Given the description of an element on the screen output the (x, y) to click on. 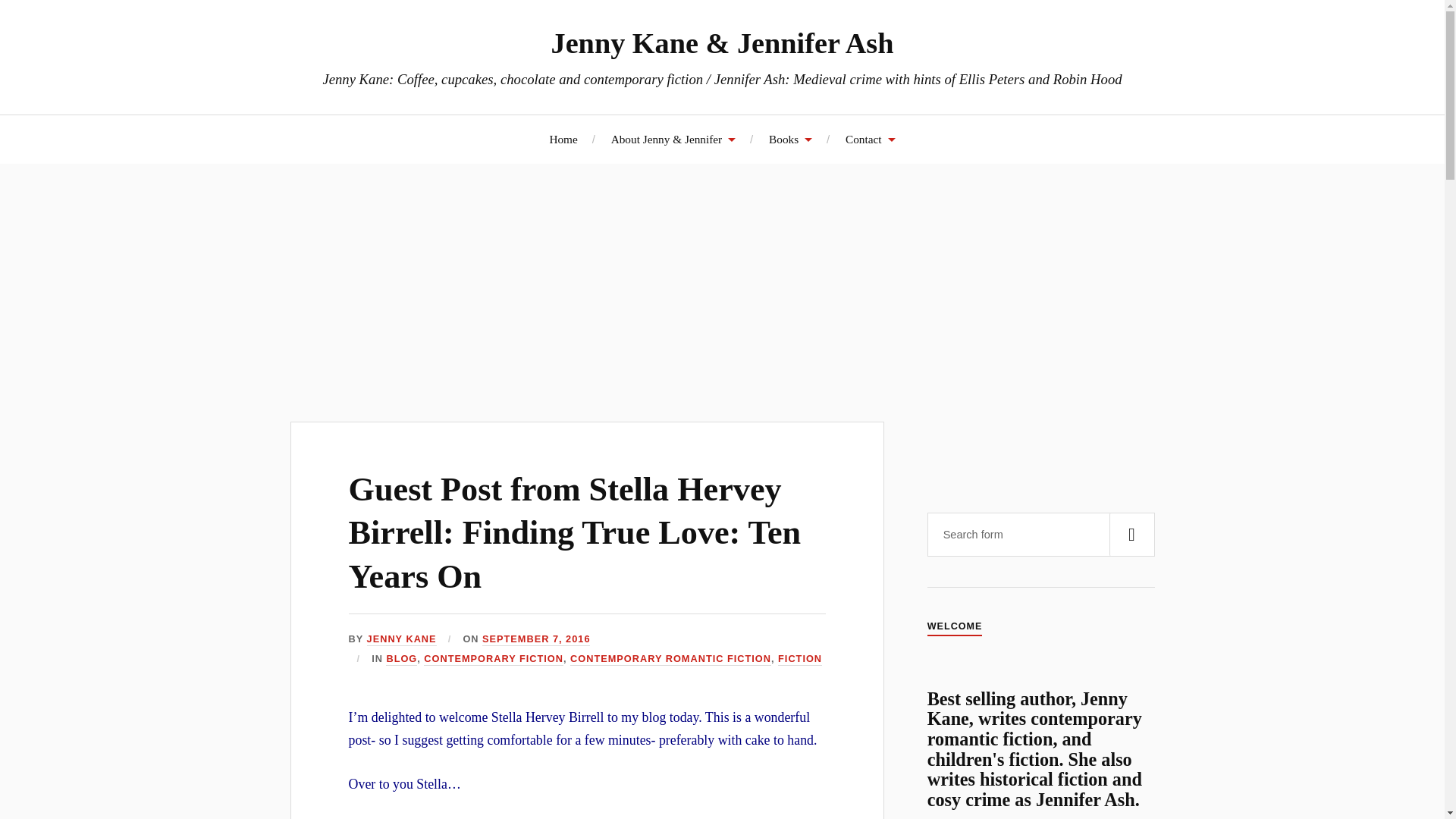
Posts by Jenny Kane (401, 639)
FICTION (799, 658)
BLOG (400, 658)
CONTEMPORARY FICTION (493, 658)
JENNY KANE (401, 639)
CONTEMPORARY ROMANTIC FICTION (670, 658)
Books (790, 138)
Contact (870, 138)
SEPTEMBER 7, 2016 (535, 639)
